Given the description of an element on the screen output the (x, y) to click on. 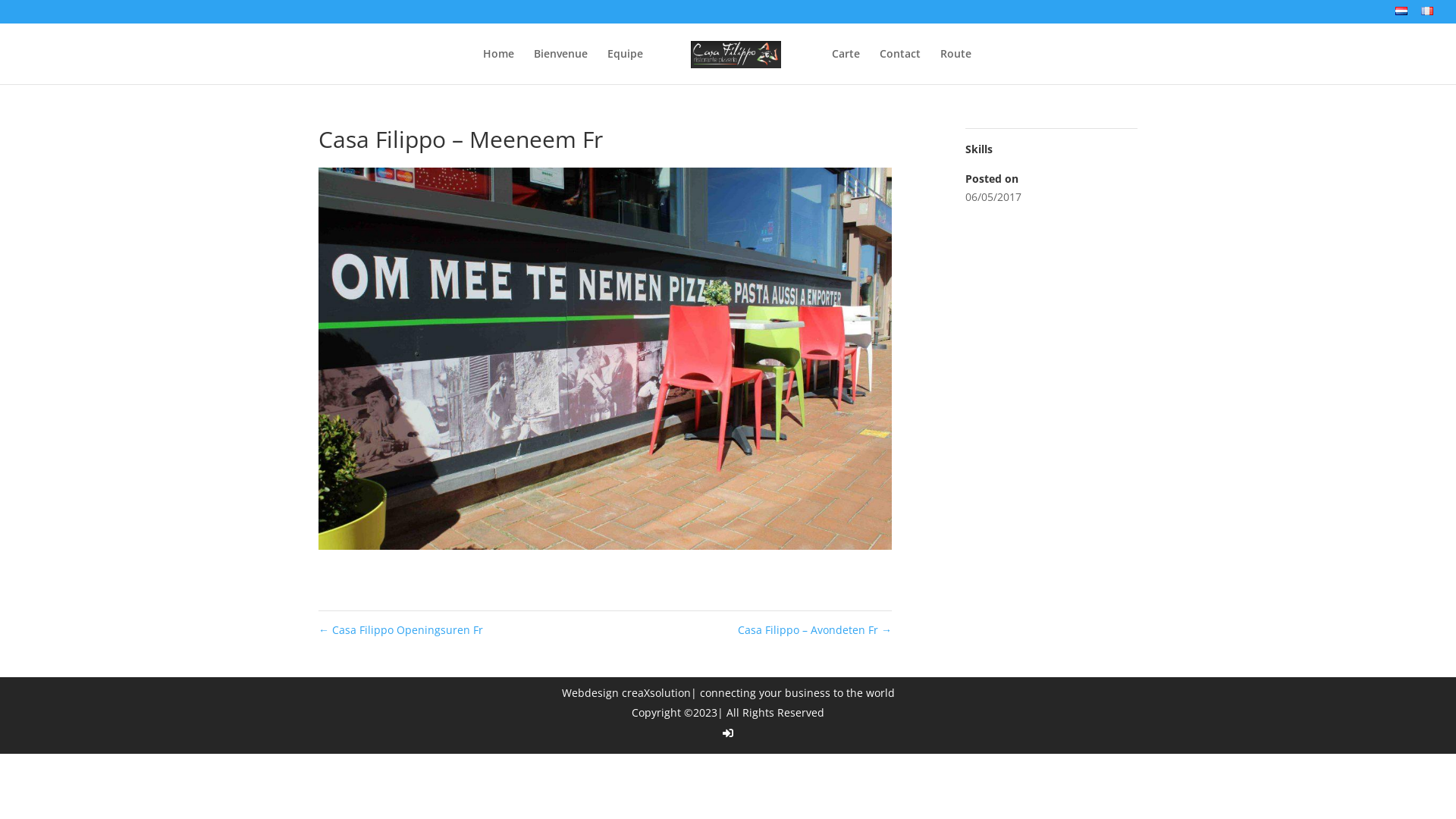
Contact Element type: text (899, 66)
Home Element type: text (498, 66)
Route Element type: text (955, 66)
Bienvenue Element type: text (560, 66)
Carte Element type: text (845, 66)
Equipe Element type: text (625, 66)
